Given the description of an element on the screen output the (x, y) to click on. 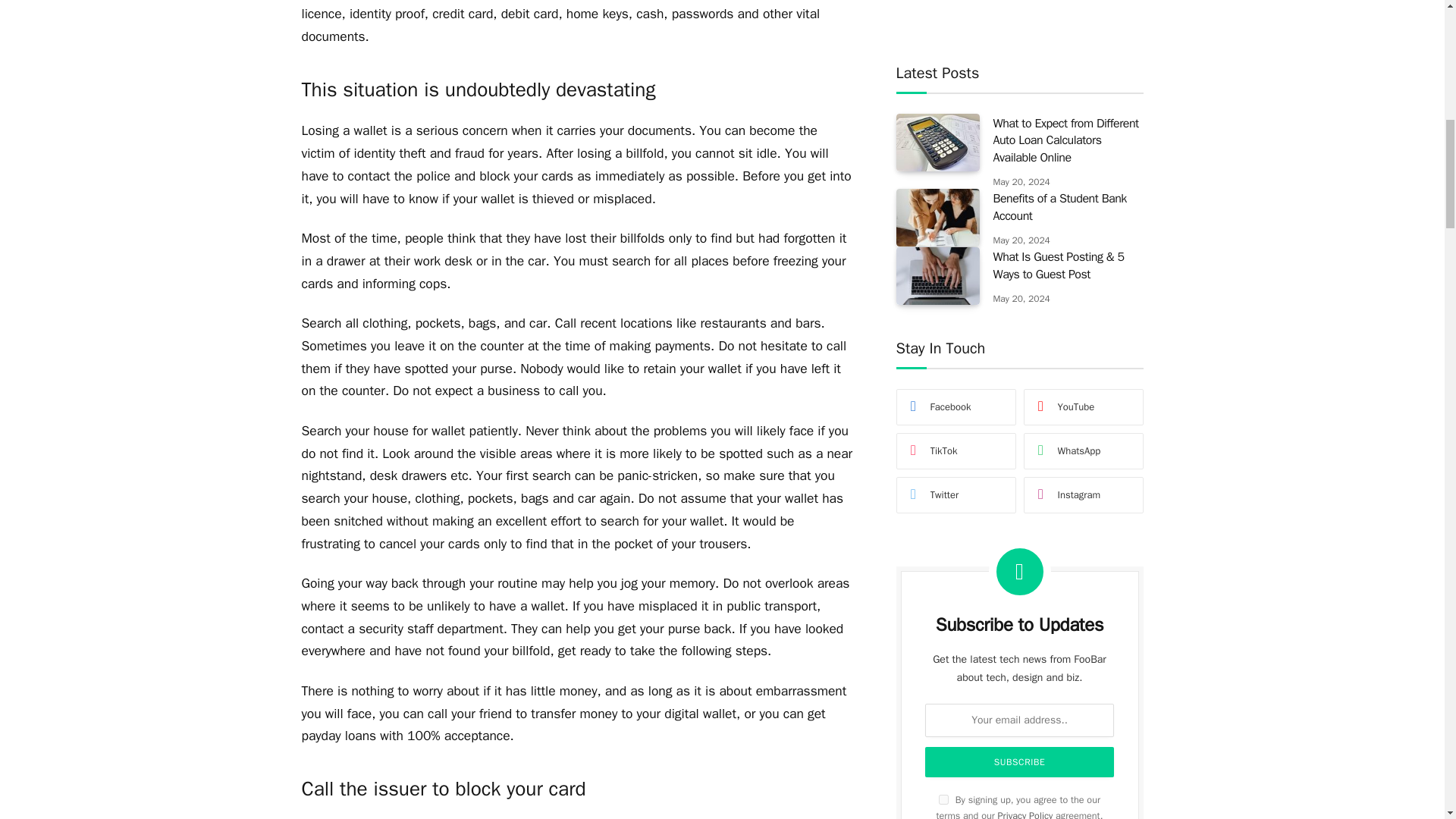
on (944, 144)
Subscribe (1018, 106)
